Given the description of an element on the screen output the (x, y) to click on. 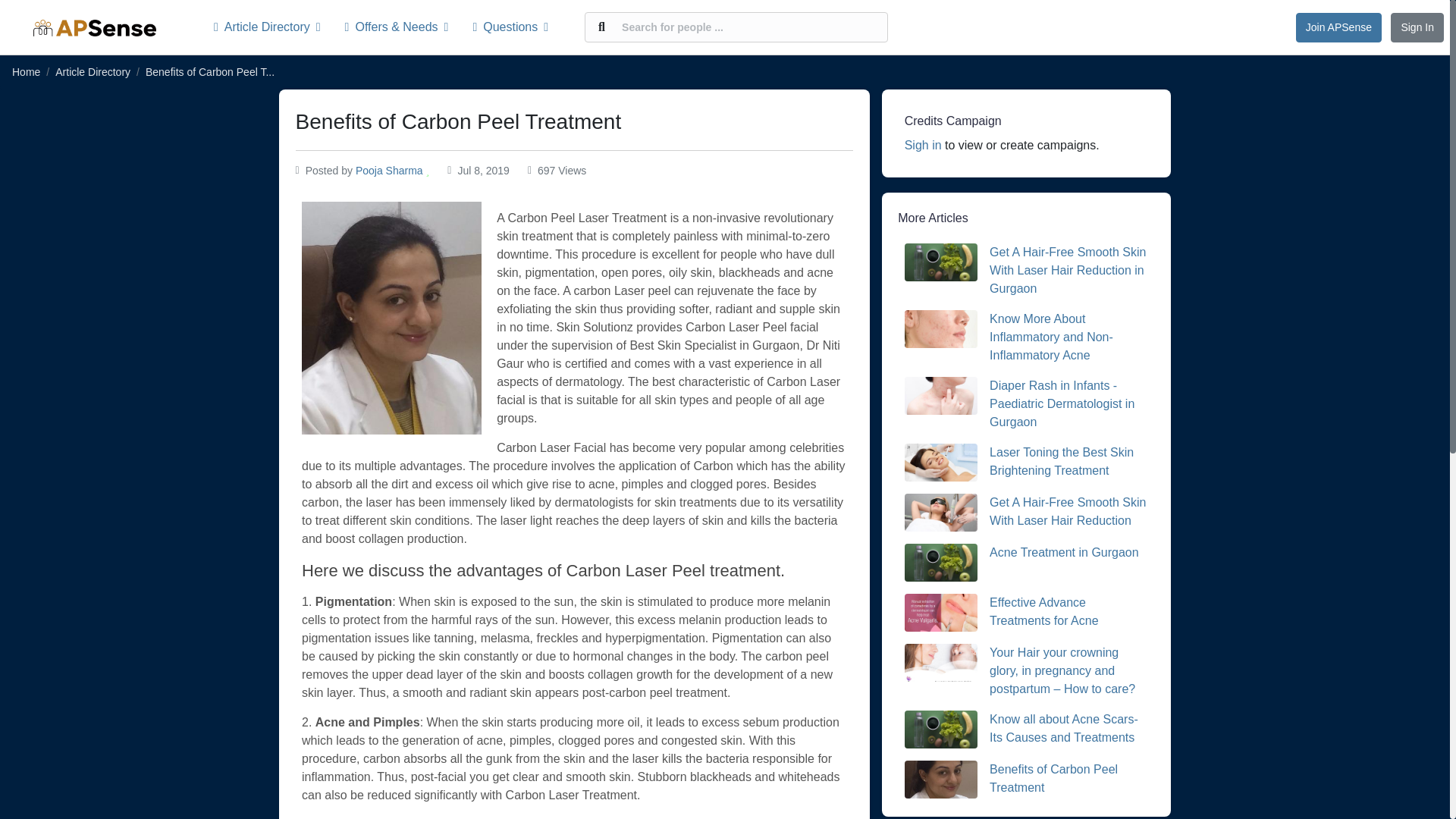
Sign In (1417, 27)
Article Directory (273, 27)
Laser Toning the Best Skin Brightening Treatment (1062, 460)
Home (25, 71)
Article Directory (93, 71)
Sigh in (923, 144)
Know all about Acne Scars- Its Causes and Treatments (1064, 727)
Questions (510, 27)
Diaper Rash in Infants - Paediatric Dermatologist in Gurgaon (1062, 403)
Benefits of Carbon Peel Treatment (1054, 777)
